Given the description of an element on the screen output the (x, y) to click on. 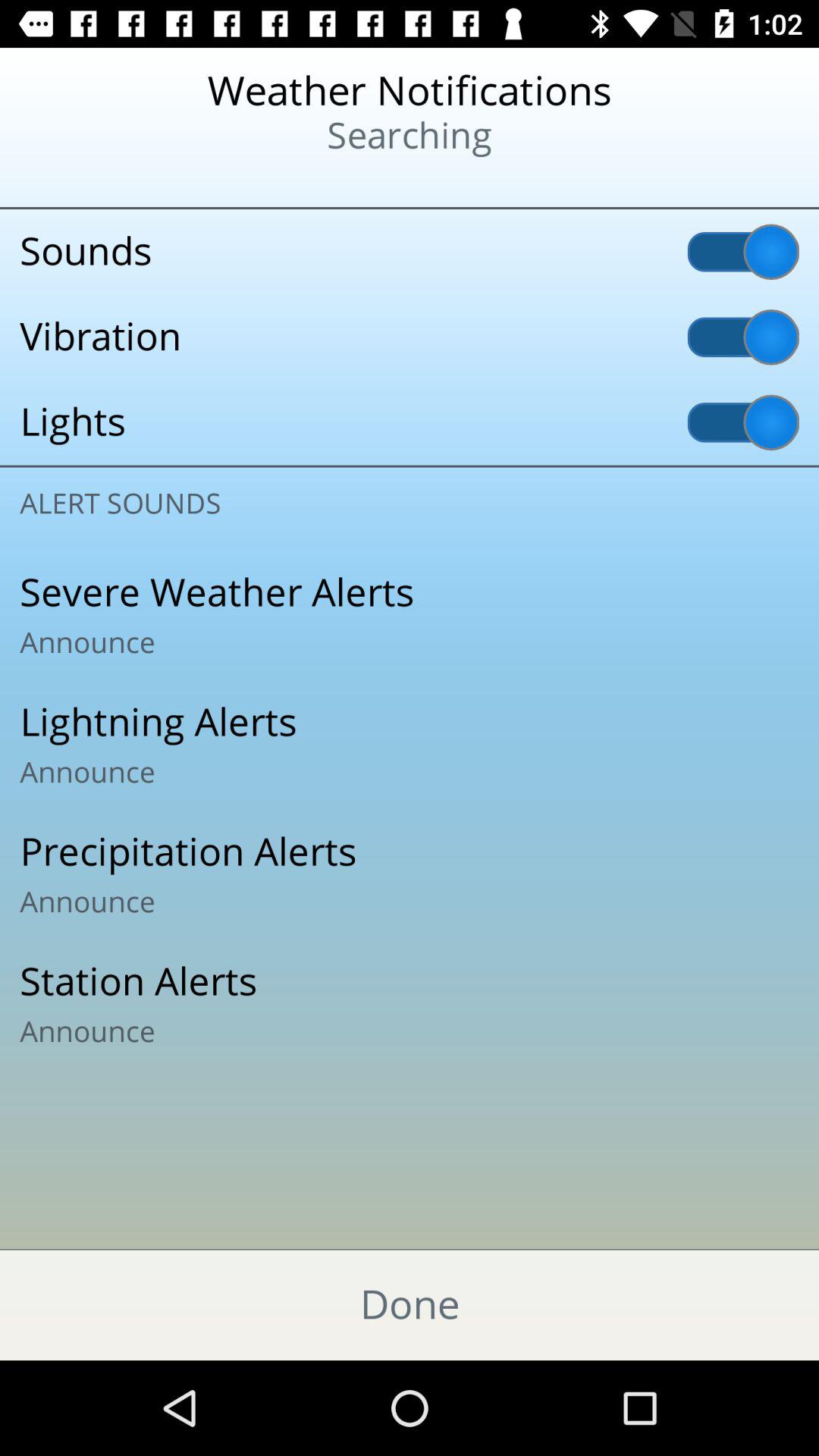
press the item above lights icon (409, 336)
